Given the description of an element on the screen output the (x, y) to click on. 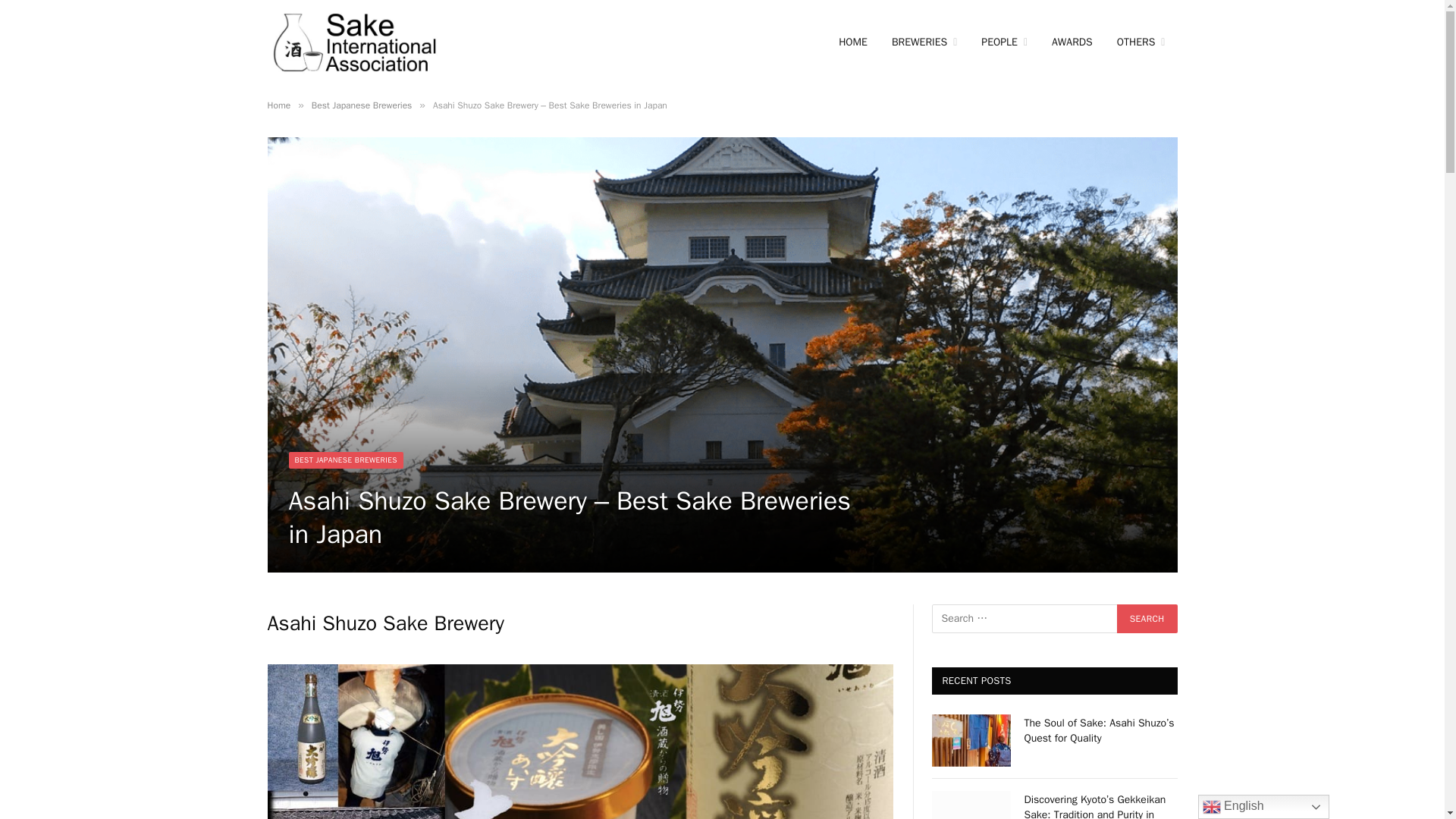
Search (1146, 618)
BREWERIES (924, 42)
Home (277, 105)
Search (1146, 618)
BEST JAPANESE BREWERIES (345, 460)
Best Japanese Breweries (361, 105)
